Given the description of an element on the screen output the (x, y) to click on. 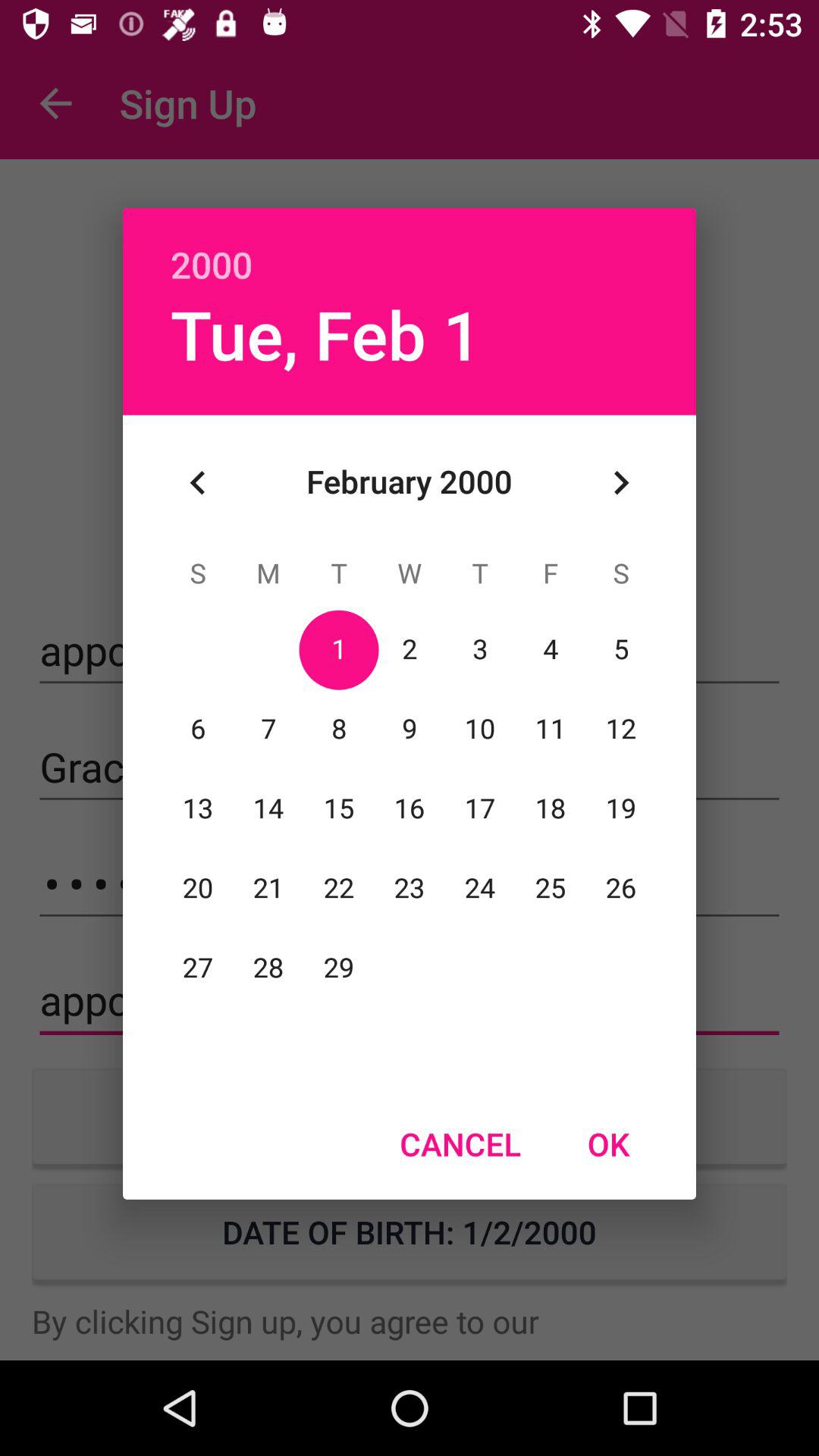
tap the icon at the bottom right corner (608, 1143)
